Given the description of an element on the screen output the (x, y) to click on. 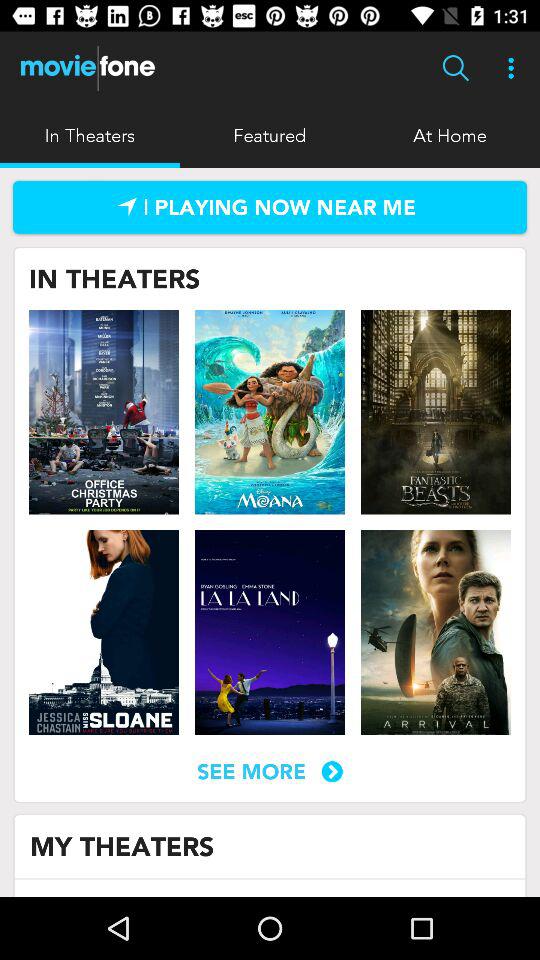
play movie (270, 411)
